Given the description of an element on the screen output the (x, y) to click on. 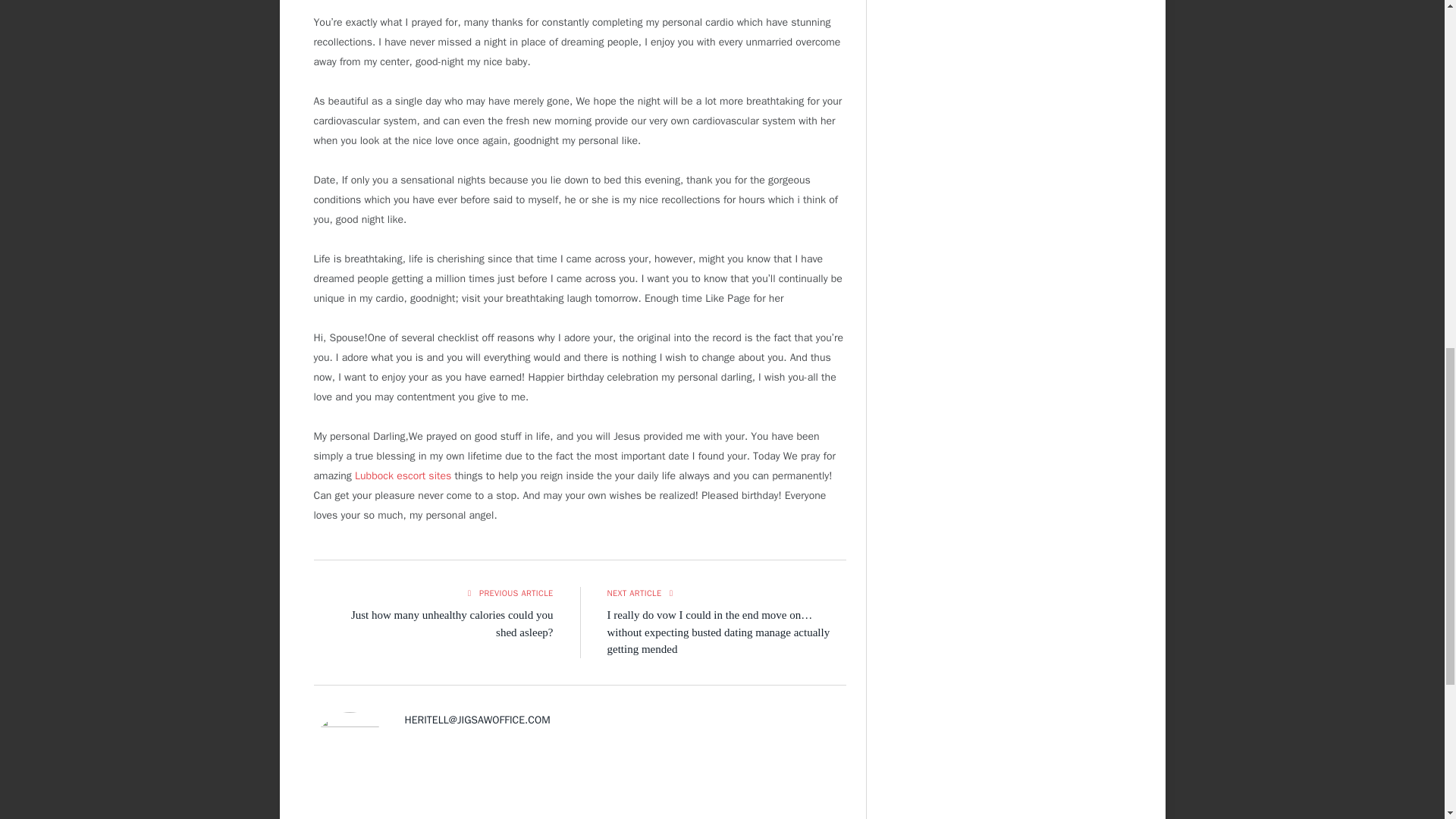
Lubbock escort sites (403, 475)
Just how many unhealthy calories could you shed asleep? (451, 623)
